Given the description of an element on the screen output the (x, y) to click on. 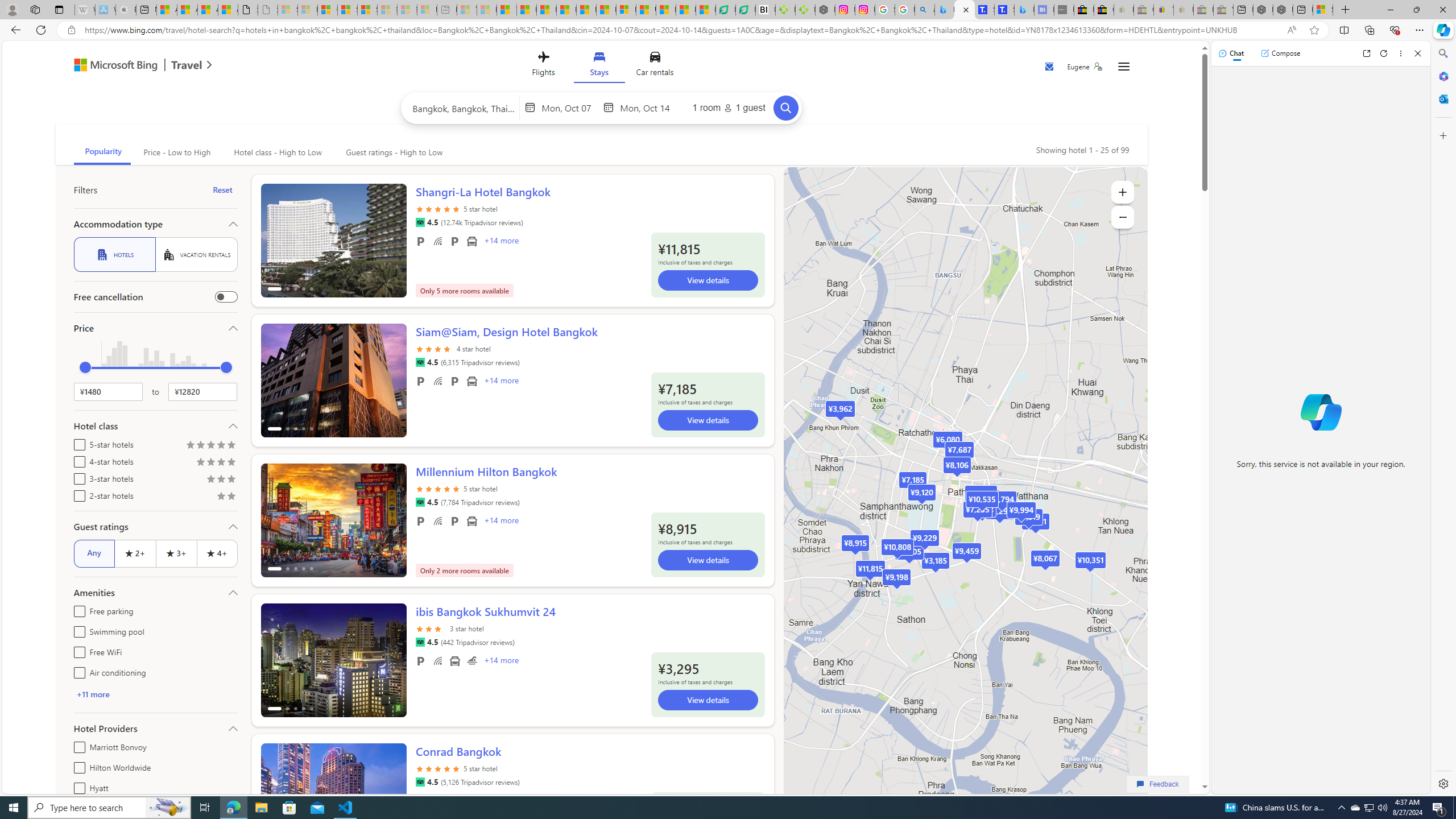
Rating (231, 496)
Microsoft Services Agreement - Sleeping (306, 9)
Nordace - Summer Adventures 2024 (1282, 9)
Start Date (569, 107)
Free WiFi (76, 650)
More options (1401, 53)
Hotel Providers (154, 728)
ScrollRight (391, 795)
New tab - Sleeping (446, 9)
LendingTree - Compare Lenders (745, 9)
Open link in new tab (1366, 53)
Buy iPad - Apple - Sleeping (125, 9)
